Given the description of an element on the screen output the (x, y) to click on. 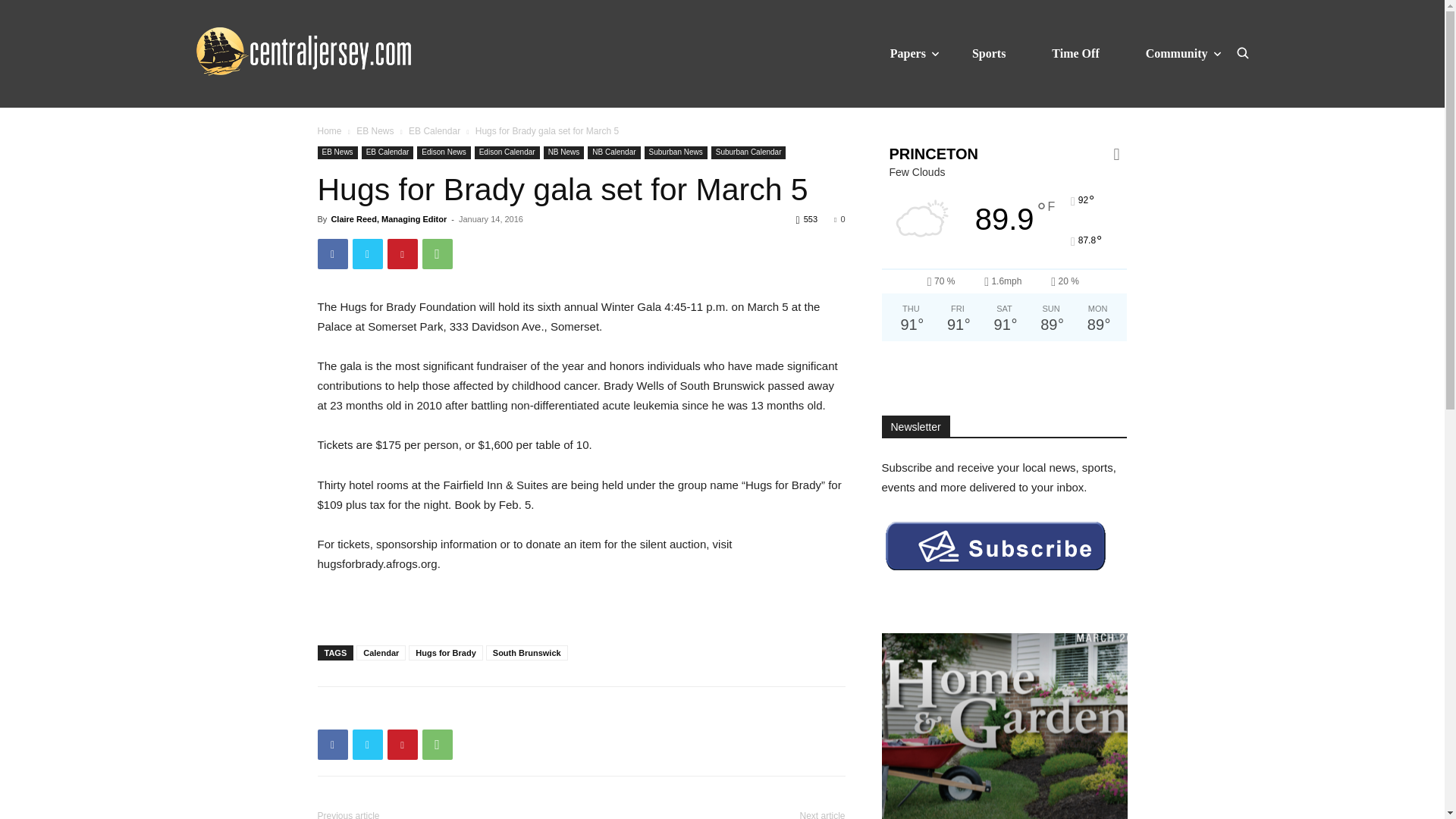
Twitter (366, 254)
Pinterest (401, 254)
EB News (374, 131)
Facebook (332, 254)
View all posts in EB Calendar (434, 131)
WhatsApp (436, 254)
EB News (336, 152)
Facebook (332, 744)
WhatsApp (436, 744)
Pinterest (401, 744)
Edison Calendar (507, 152)
NB News (564, 152)
EB Calendar (434, 131)
Home (328, 131)
Edison News (443, 152)
